Given the description of an element on the screen output the (x, y) to click on. 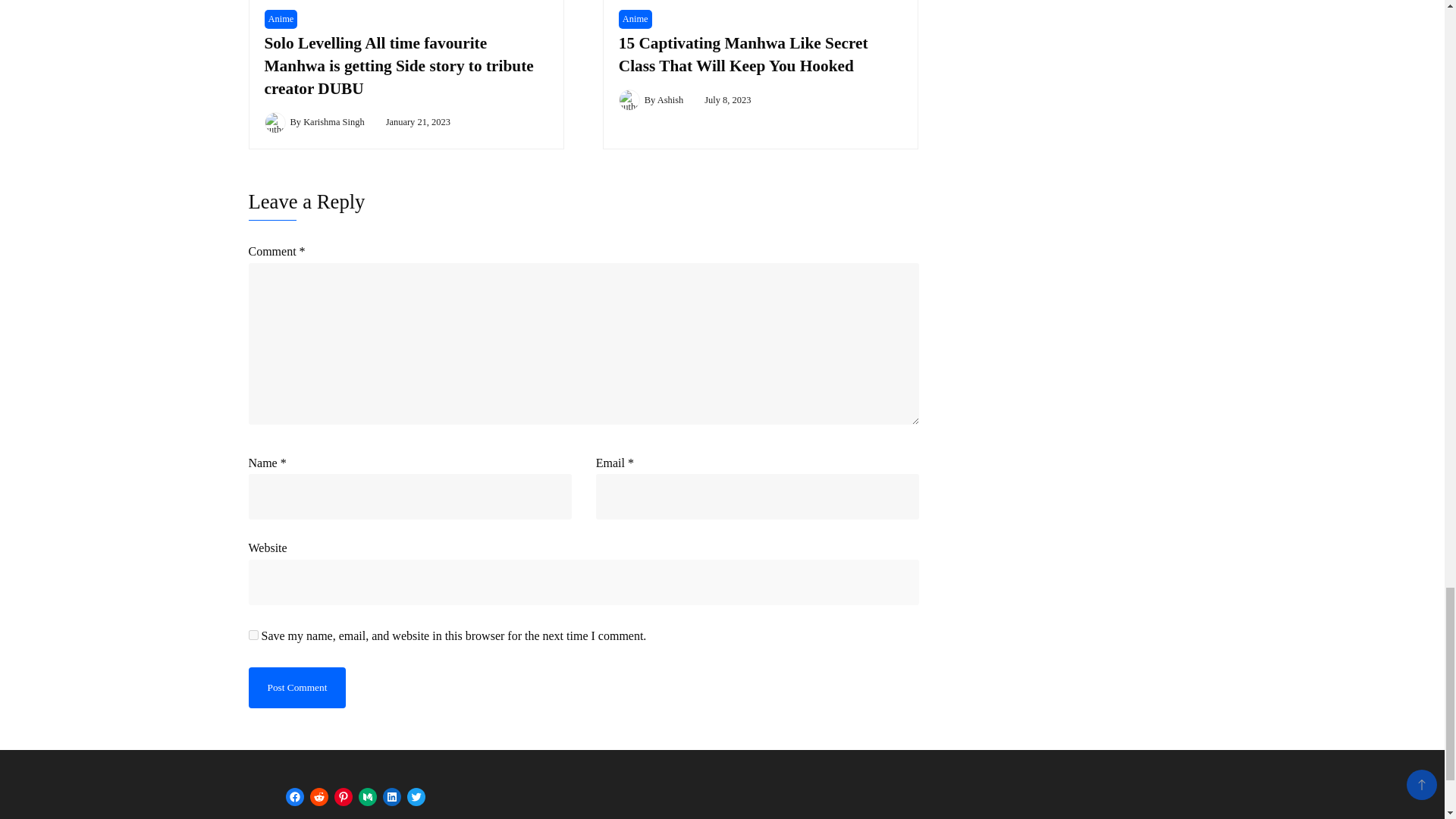
Post Comment (297, 687)
yes (253, 634)
